Given the description of an element on the screen output the (x, y) to click on. 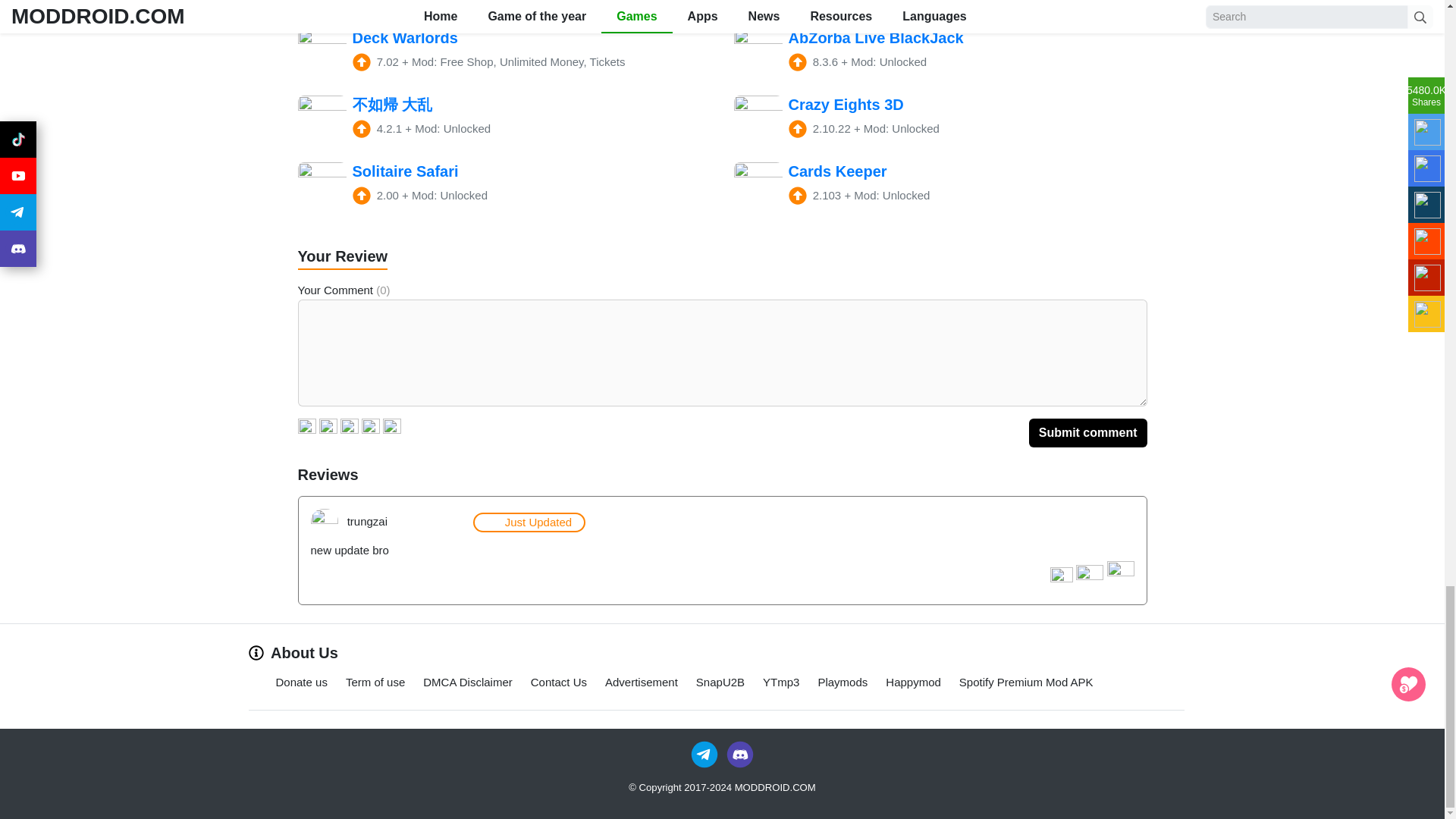
Deck Warlords (503, 52)
Solitaire Harvest Day (503, 5)
Cards Keeper (940, 186)
Crazy Eights 3D (940, 119)
Cobra Kai: Card Fighter (940, 5)
AbZorba Live BlackJack (940, 52)
Solitaire Safari (503, 186)
